Given the description of an element on the screen output the (x, y) to click on. 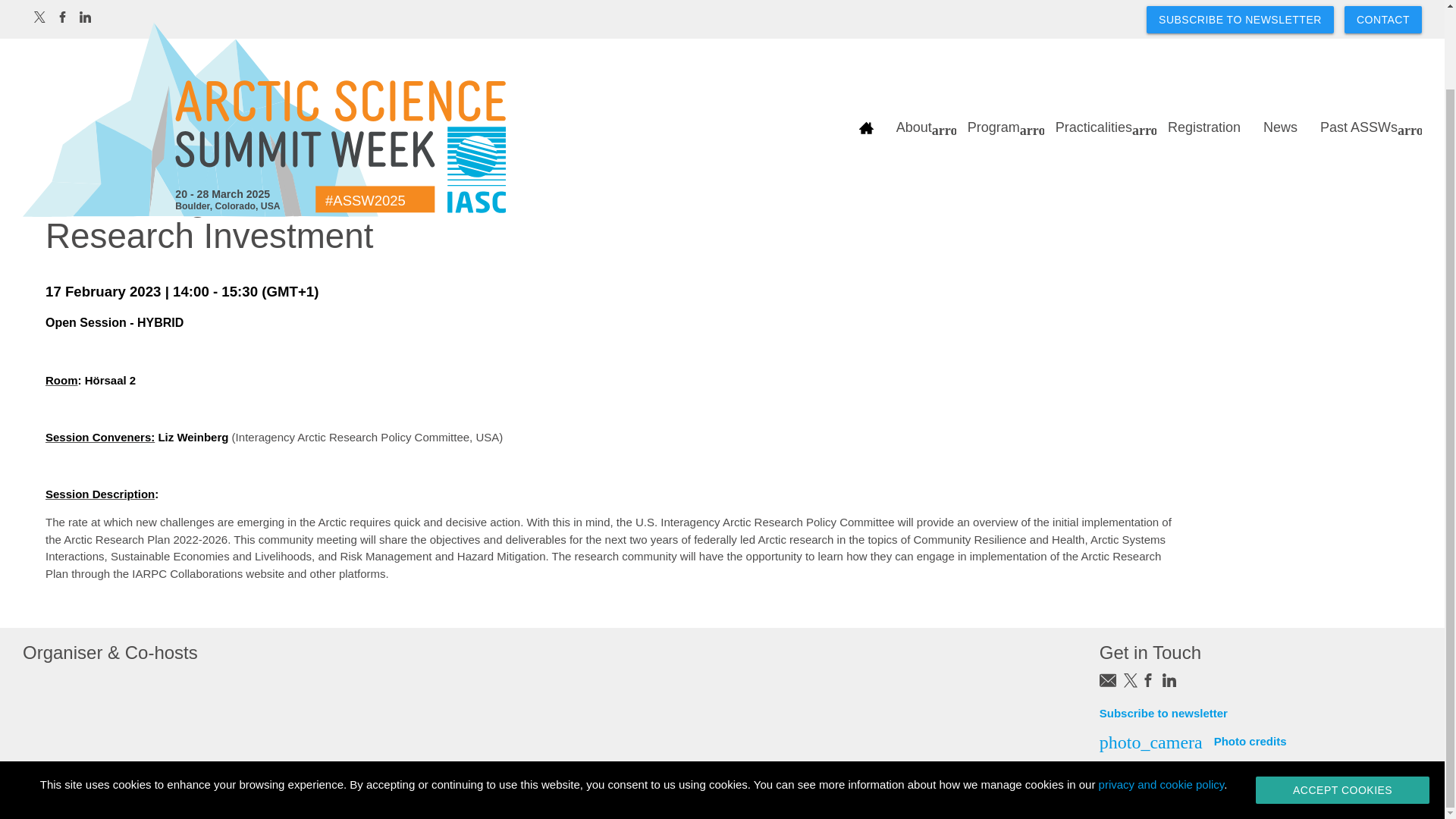
assw.info (264, 65)
Sessions - ASSW 2023 (226, 141)
Home (41, 141)
Sessions (107, 141)
